Given the description of an element on the screen output the (x, y) to click on. 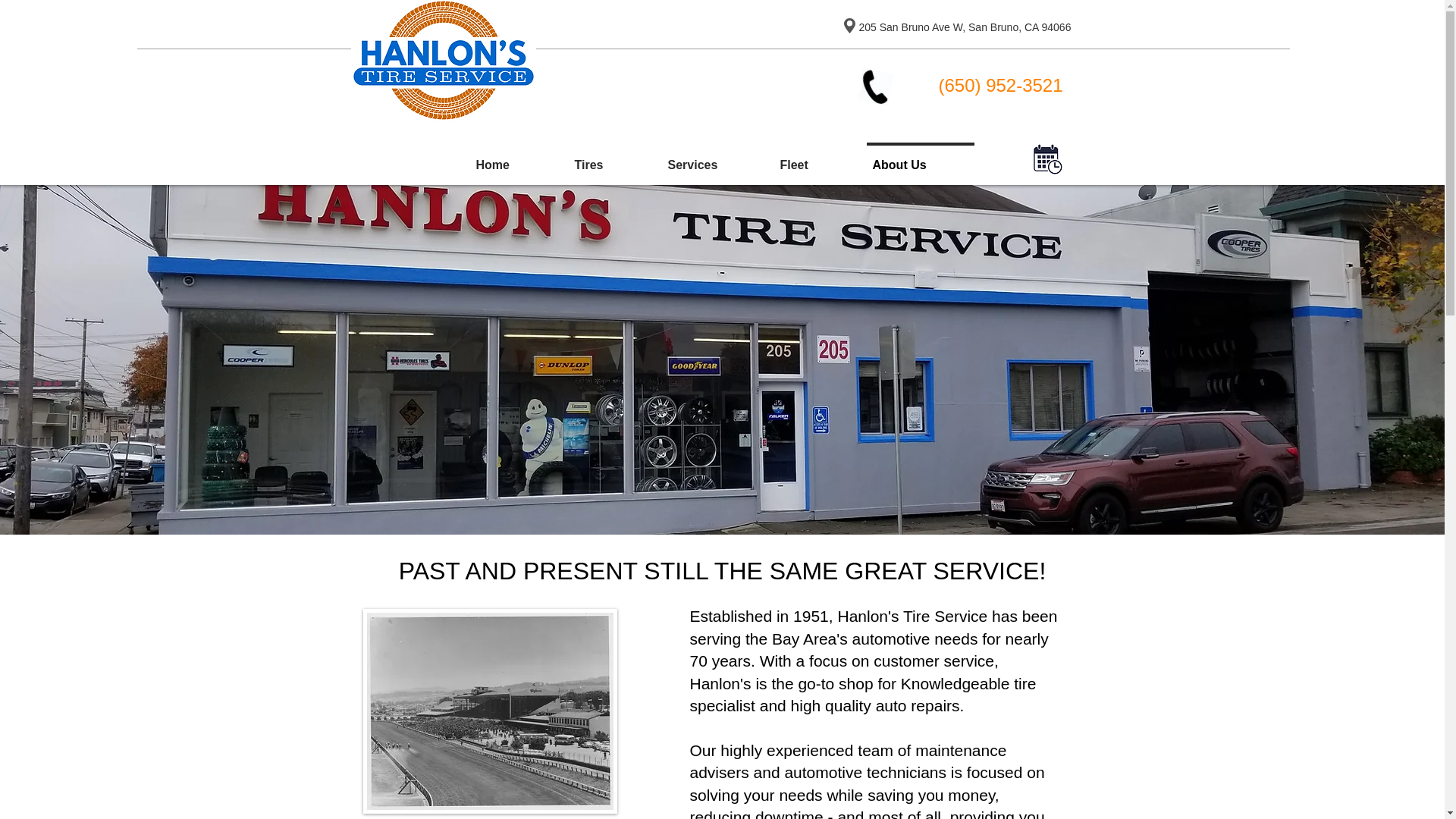
Fleet (816, 158)
Tires (611, 158)
Hanlon's Tire LOGO cropped narrow.png (442, 60)
About Us (920, 158)
Services (714, 158)
Home (514, 158)
205 San Bruno Ave W, San Bruno, CA 94066 (964, 27)
